Given the description of an element on the screen output the (x, y) to click on. 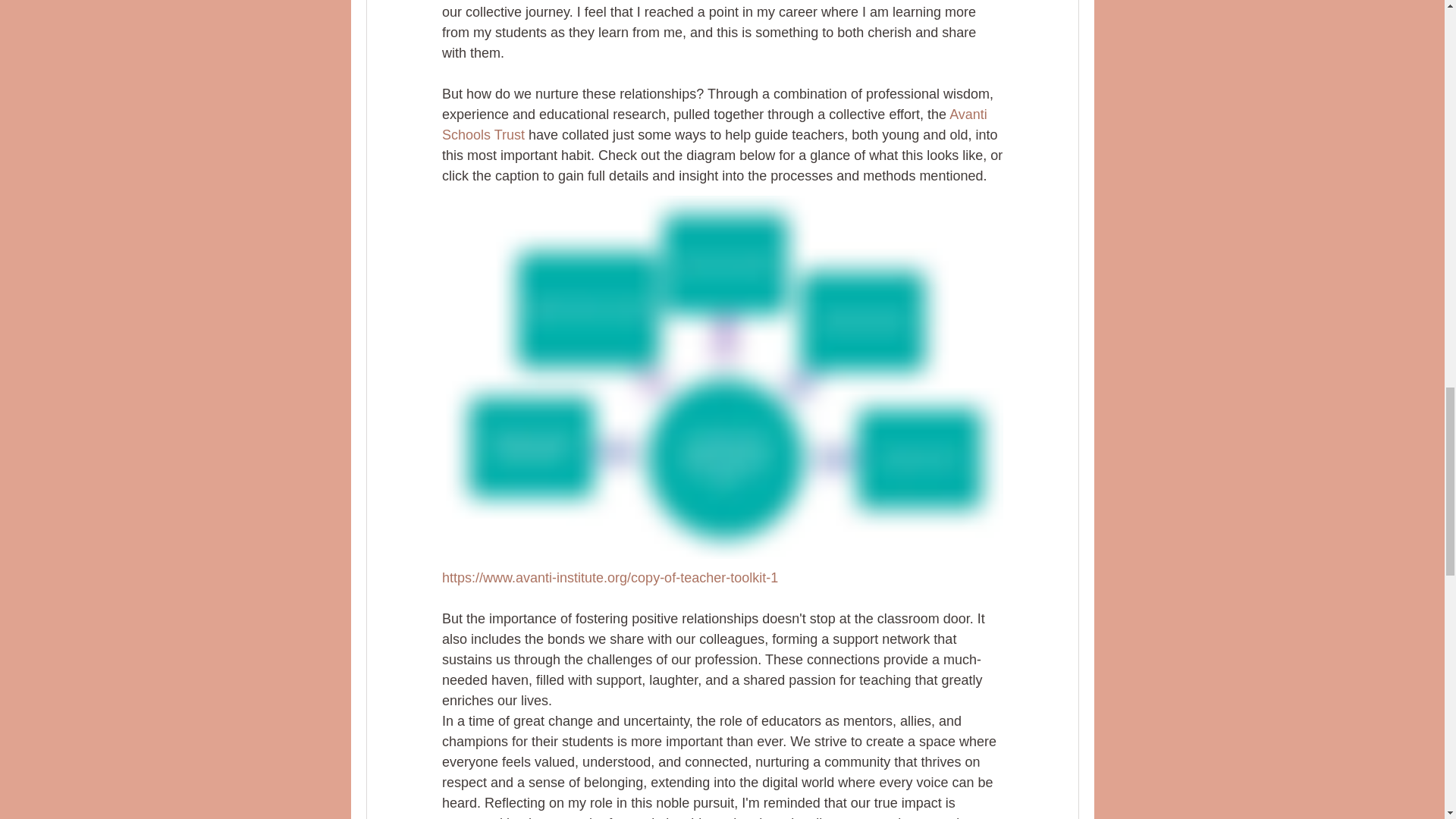
Avanti Schools Trust (715, 124)
